Given the description of an element on the screen output the (x, y) to click on. 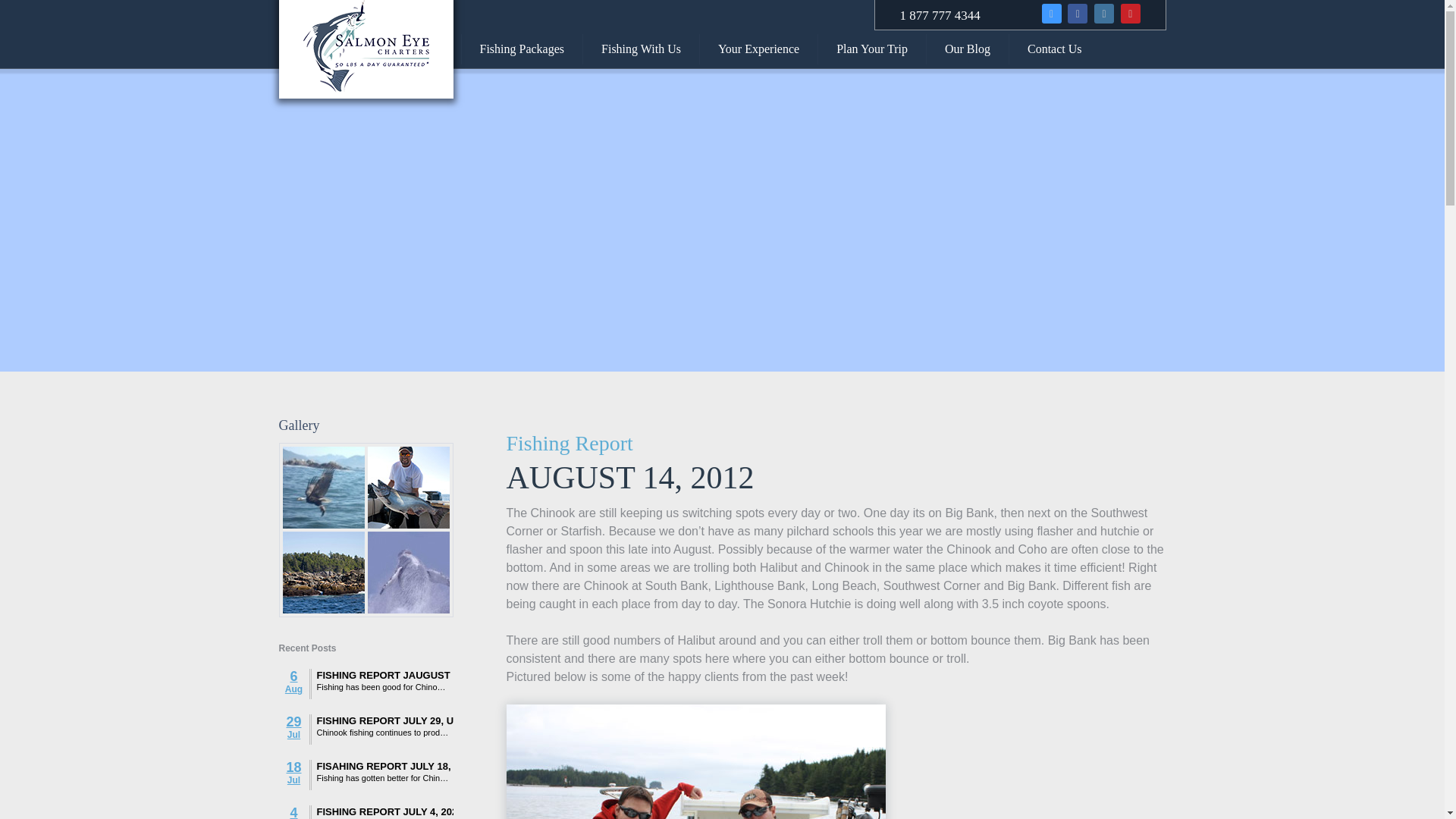
Salmon Eye Fishing Charters (365, 49)
Fishing Packages (521, 49)
August7Reynolds (695, 761)
Plan Your Trip (872, 49)
Fishing With Us (640, 49)
Your Experience (758, 49)
